Given the description of an element on the screen output the (x, y) to click on. 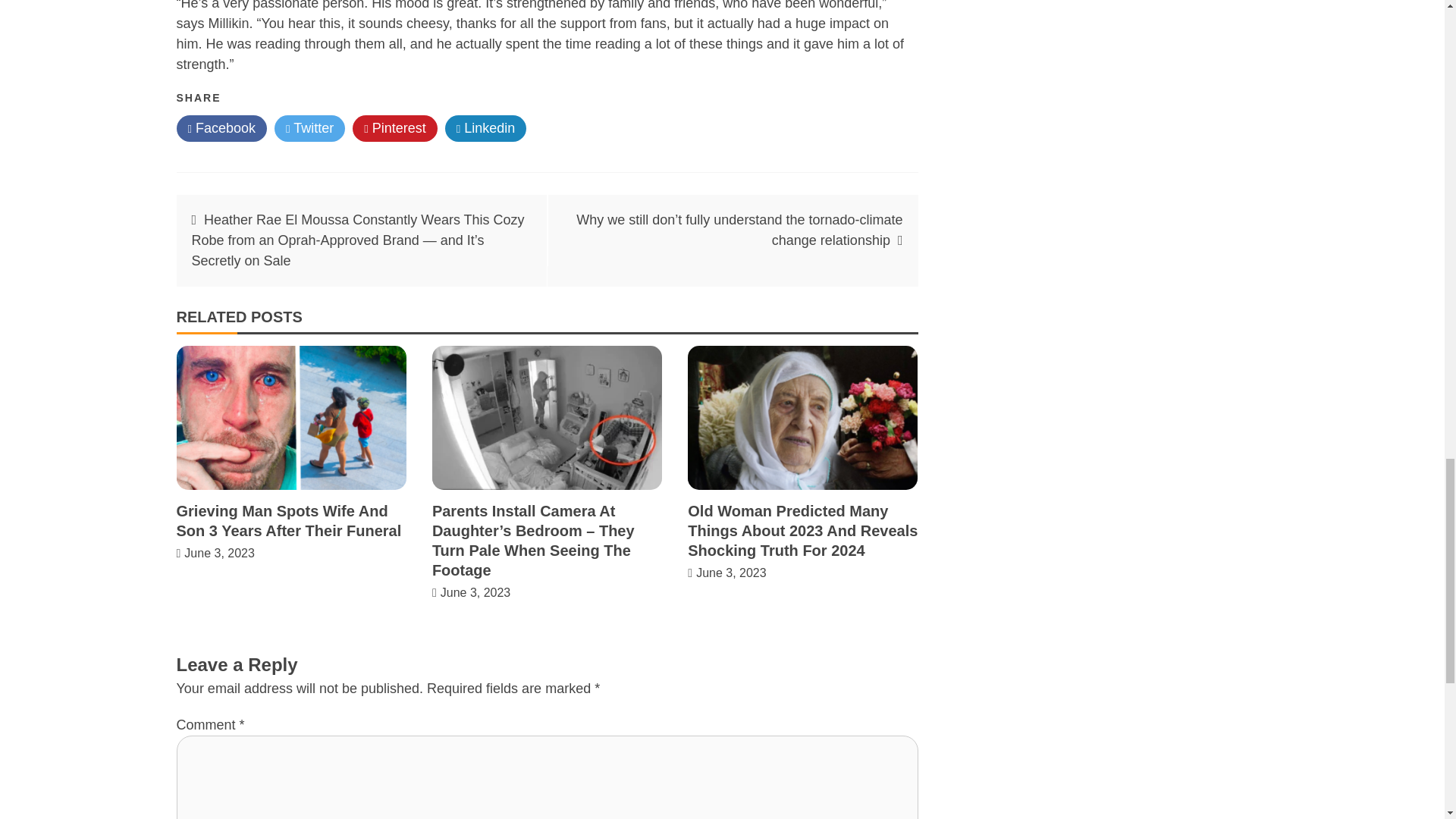
Pinterest (395, 128)
June 3, 2023 (476, 592)
Grieving Man Spots Wife And Son 3 Years After Their Funeral (288, 520)
June 3, 2023 (219, 553)
Twitter (310, 128)
Linkedin (486, 128)
Facebook (221, 128)
June 3, 2023 (731, 572)
